Given the description of an element on the screen output the (x, y) to click on. 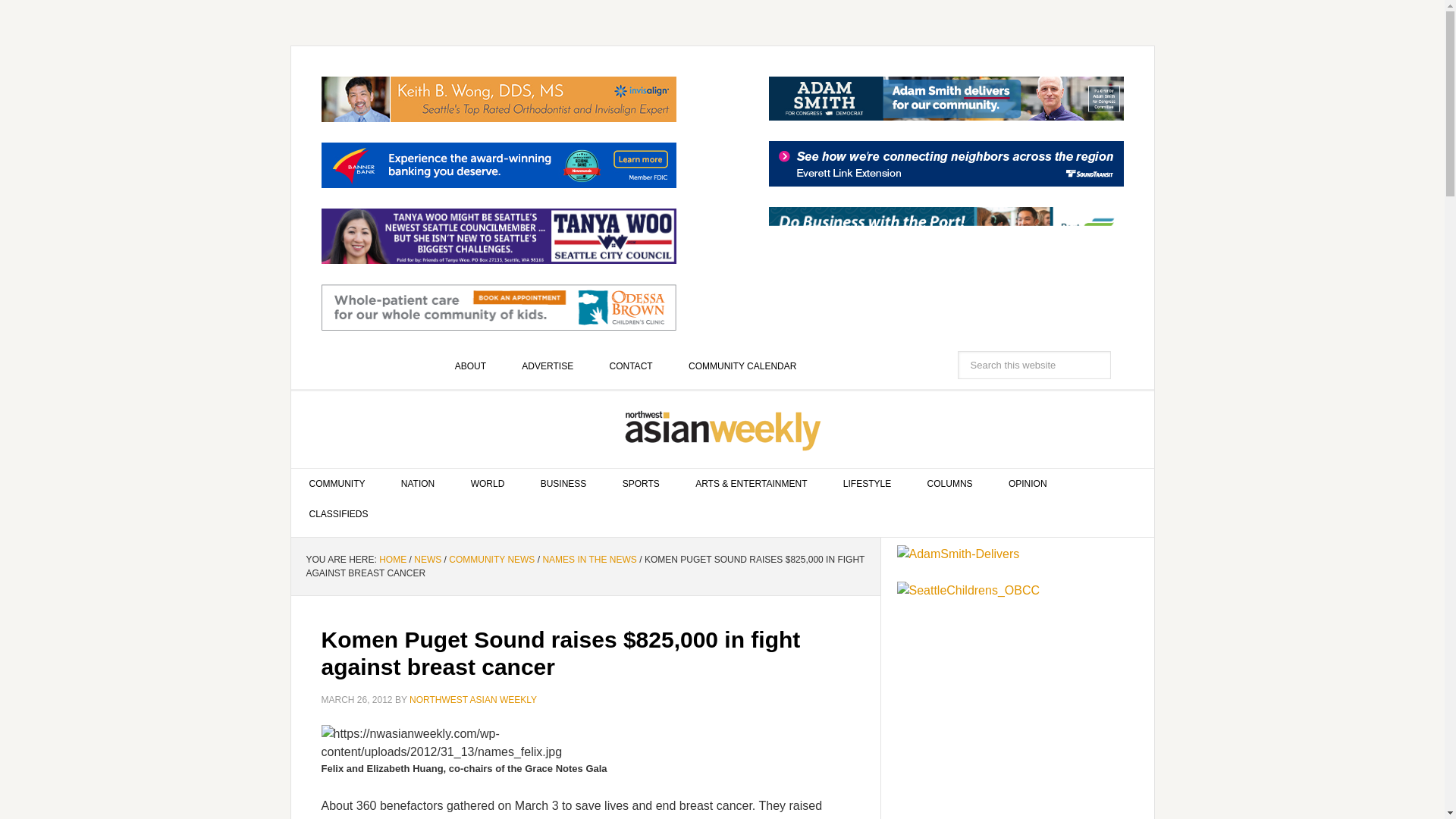
NATION (417, 483)
ADVERTISE (547, 366)
COLUMNS (949, 483)
BUSINESS (563, 483)
ABOUT (469, 366)
CONTACT (631, 366)
NORTHWEST ASIAN WEEKLY (722, 429)
COMMUNITY (337, 483)
LIFESTYLE (866, 483)
OPINION (1027, 483)
SPORTS (641, 483)
WORLD (487, 483)
COMMUNITY CALENDAR (741, 366)
